Given the description of an element on the screen output the (x, y) to click on. 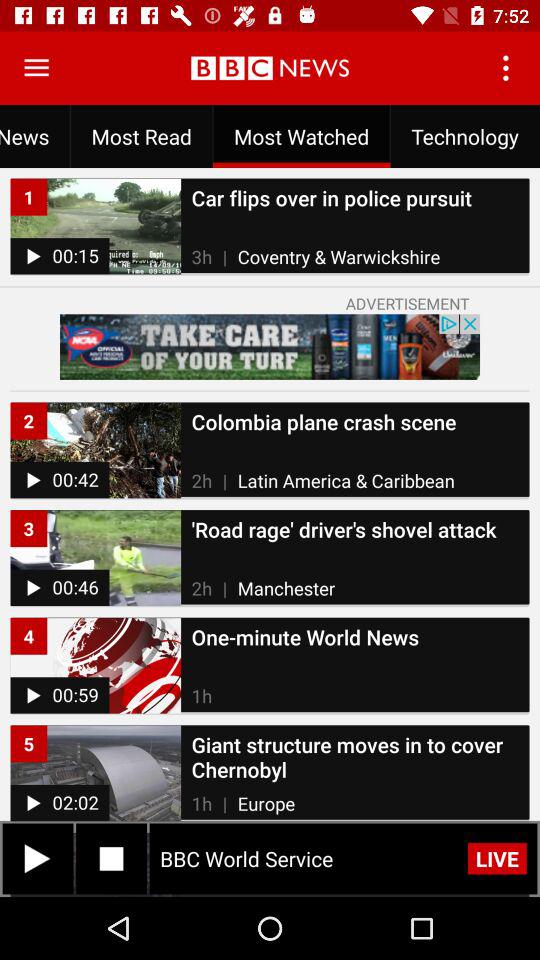
open navigation menu (36, 68)
